Given the description of an element on the screen output the (x, y) to click on. 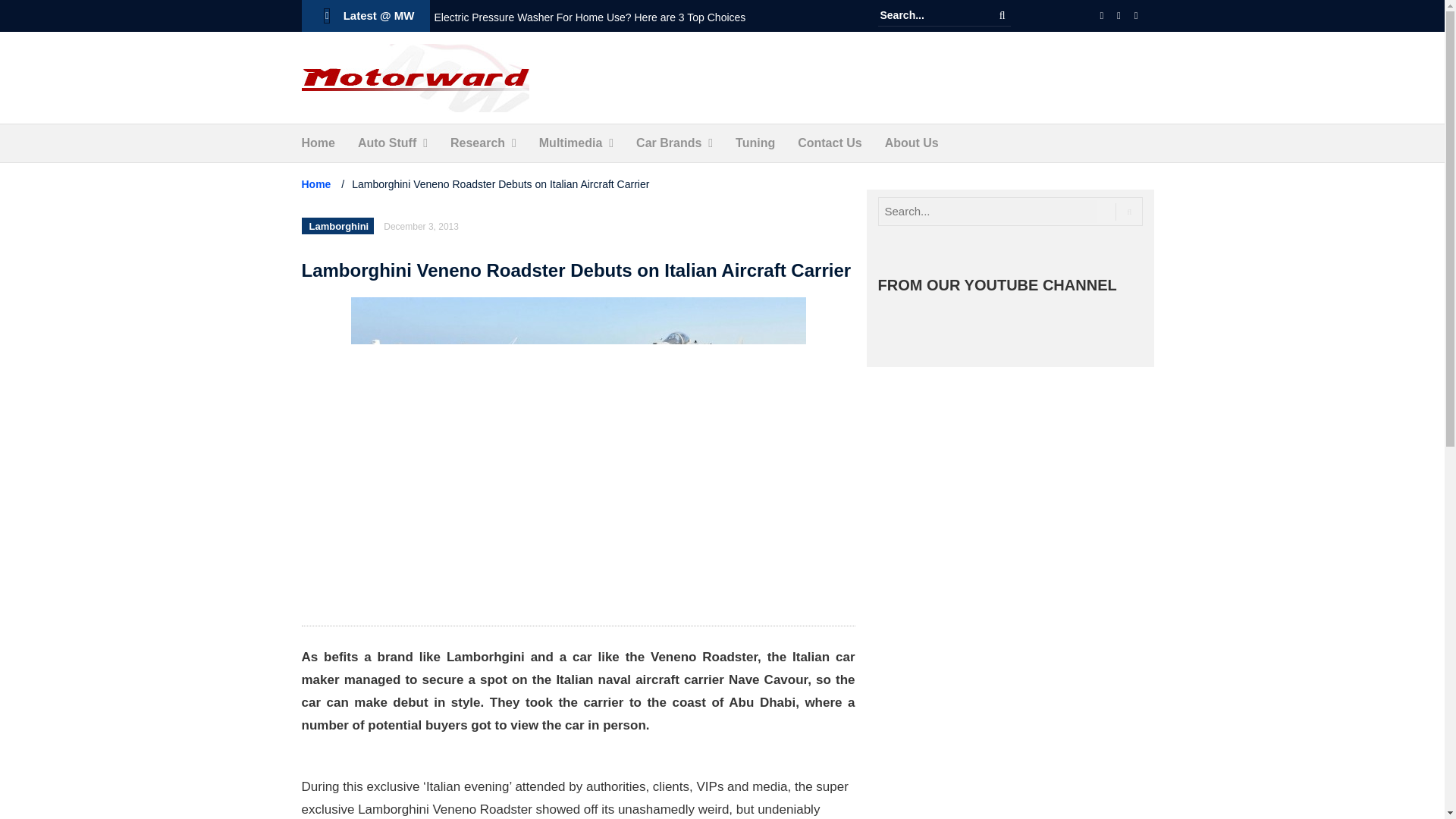
Research (477, 143)
Auto Stuff (387, 143)
Car Brands (668, 143)
Home (317, 143)
Multimedia (570, 143)
Search   (1002, 14)
